Given the description of an element on the screen output the (x, y) to click on. 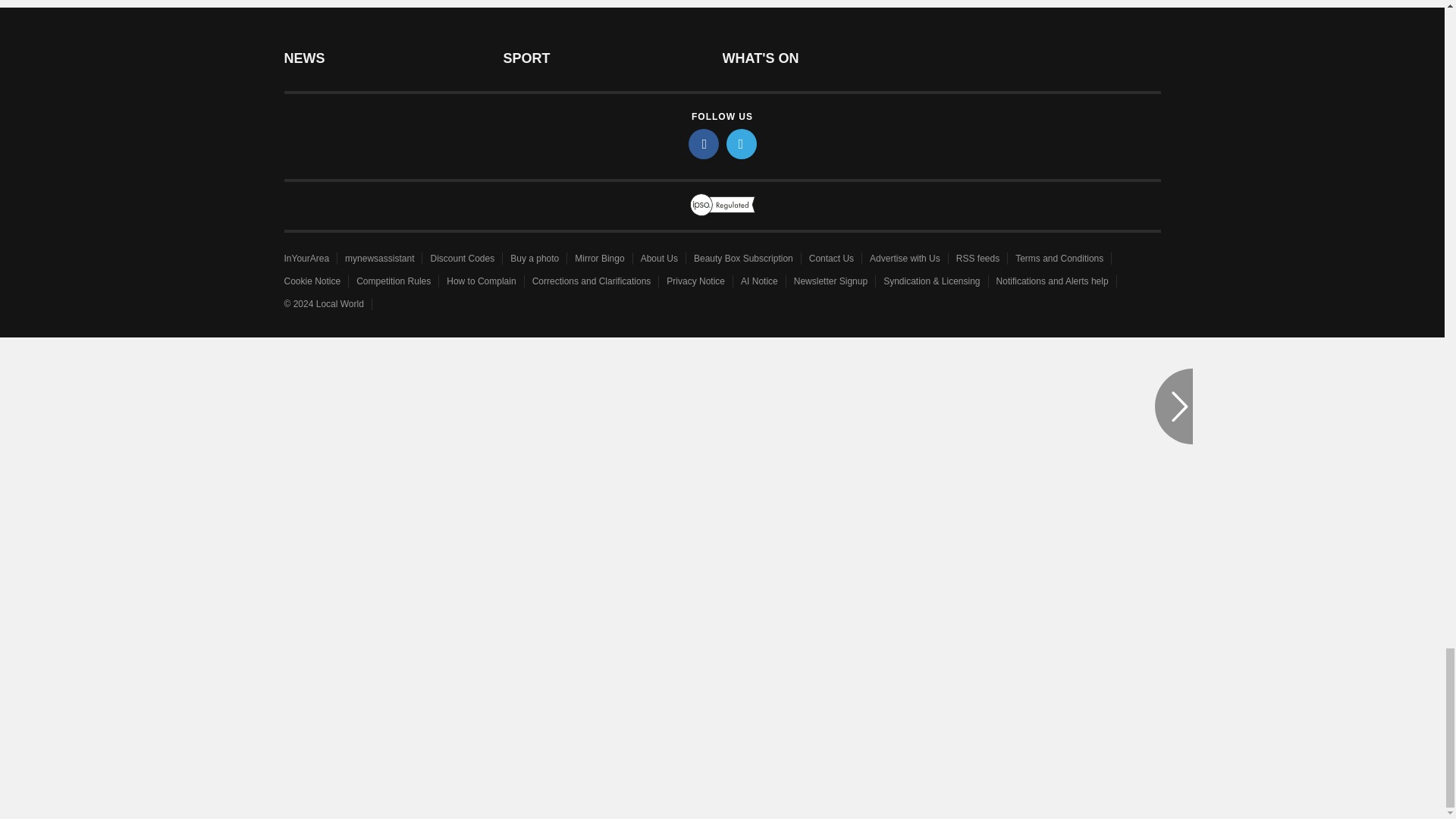
facebook (703, 143)
twitter (741, 143)
